Given the description of an element on the screen output the (x, y) to click on. 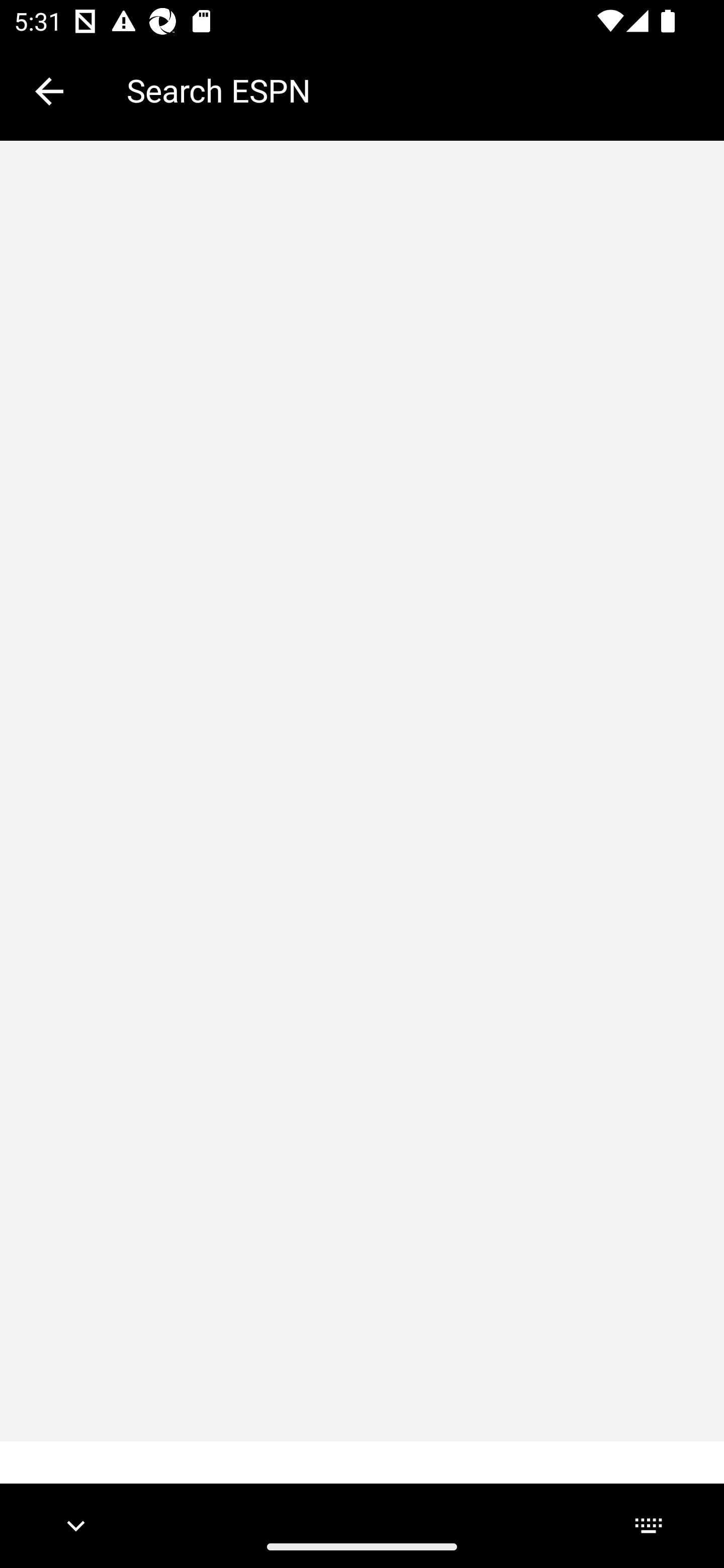
Collapse (49, 91)
Search ESPN (411, 90)
